Given the description of an element on the screen output the (x, y) to click on. 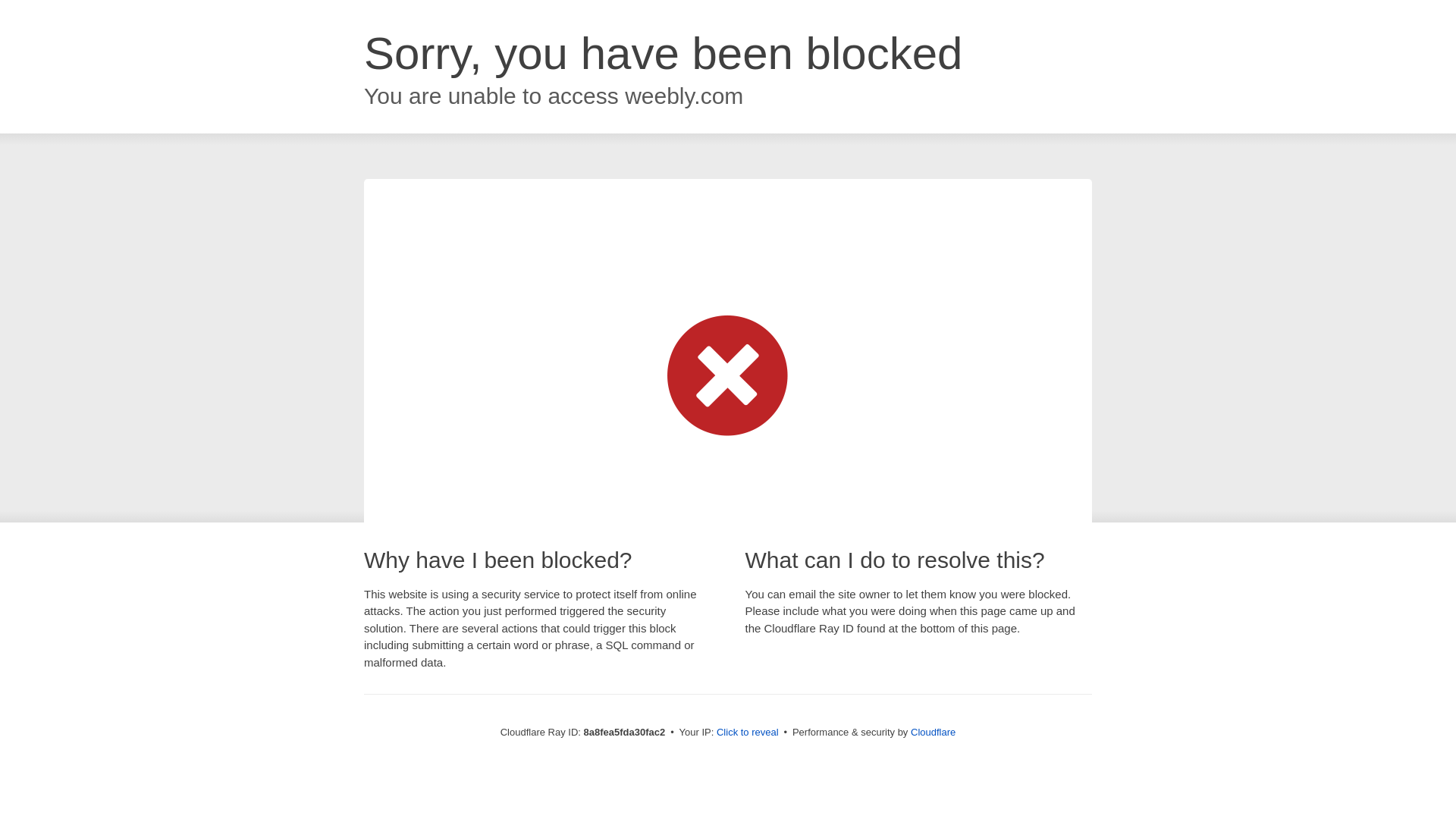
Cloudflare (933, 731)
Click to reveal (747, 732)
